Given the description of an element on the screen output the (x, y) to click on. 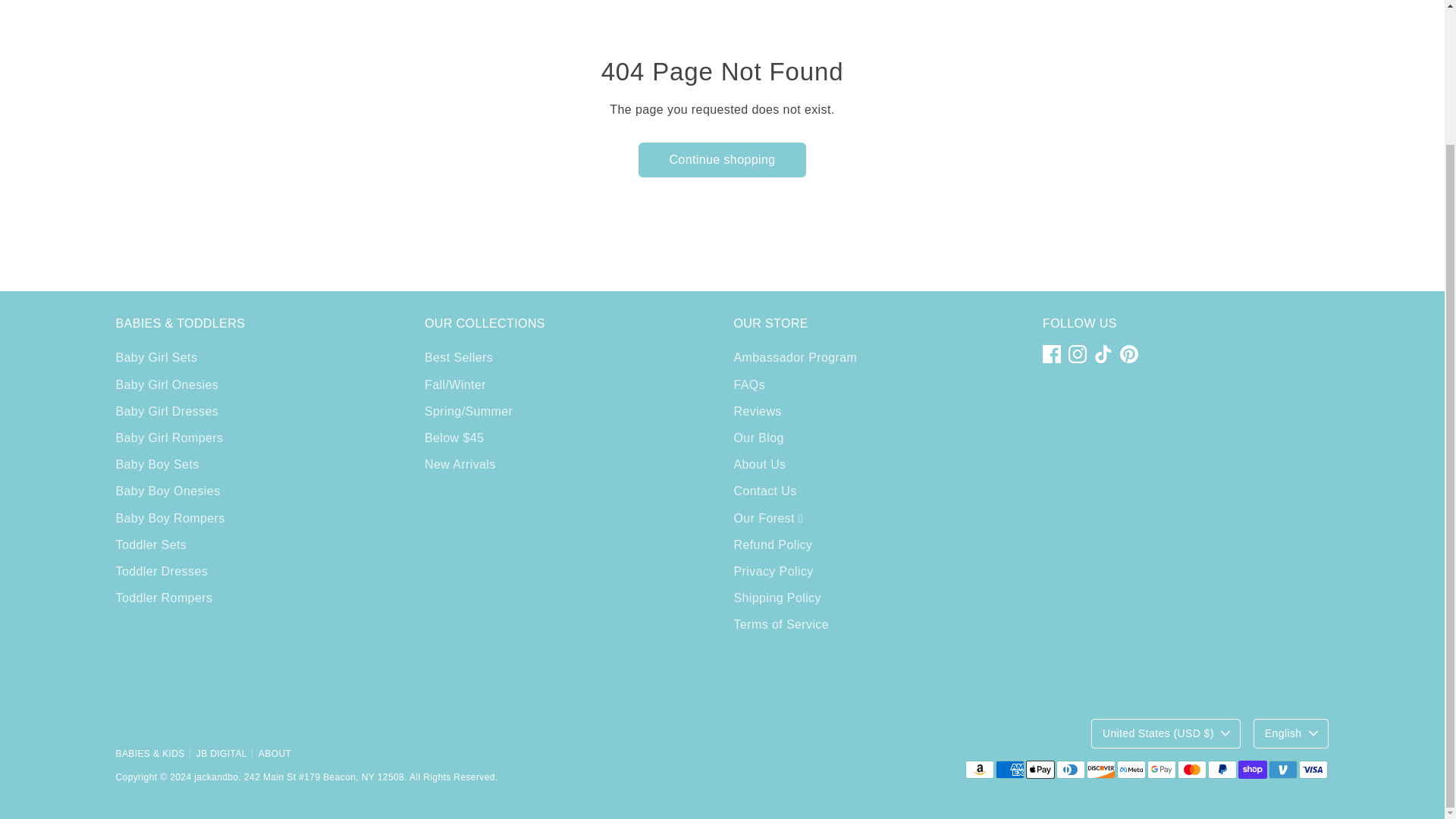
Google Pay (1160, 769)
Diners Club (1069, 769)
Apple Pay (1039, 769)
Meta Pay (1130, 769)
Discover (1100, 769)
American Express (1008, 769)
Amazon (977, 769)
